Given the description of an element on the screen output the (x, y) to click on. 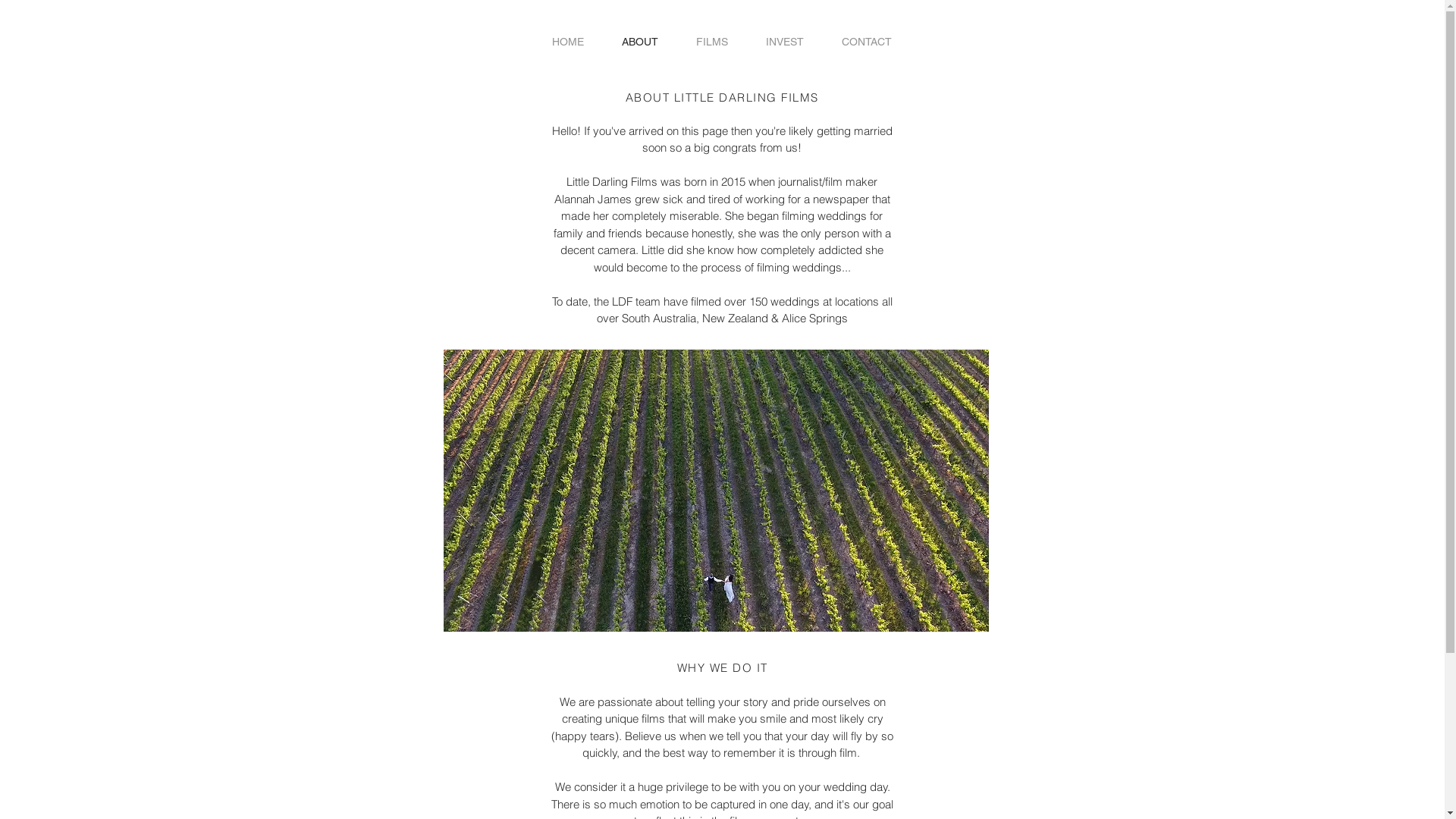
HOME Element type: text (567, 41)
ABOUT Element type: text (639, 41)
INVEST Element type: text (784, 41)
FILMS Element type: text (711, 41)
CONTACT Element type: text (866, 41)
